Given the description of an element on the screen output the (x, y) to click on. 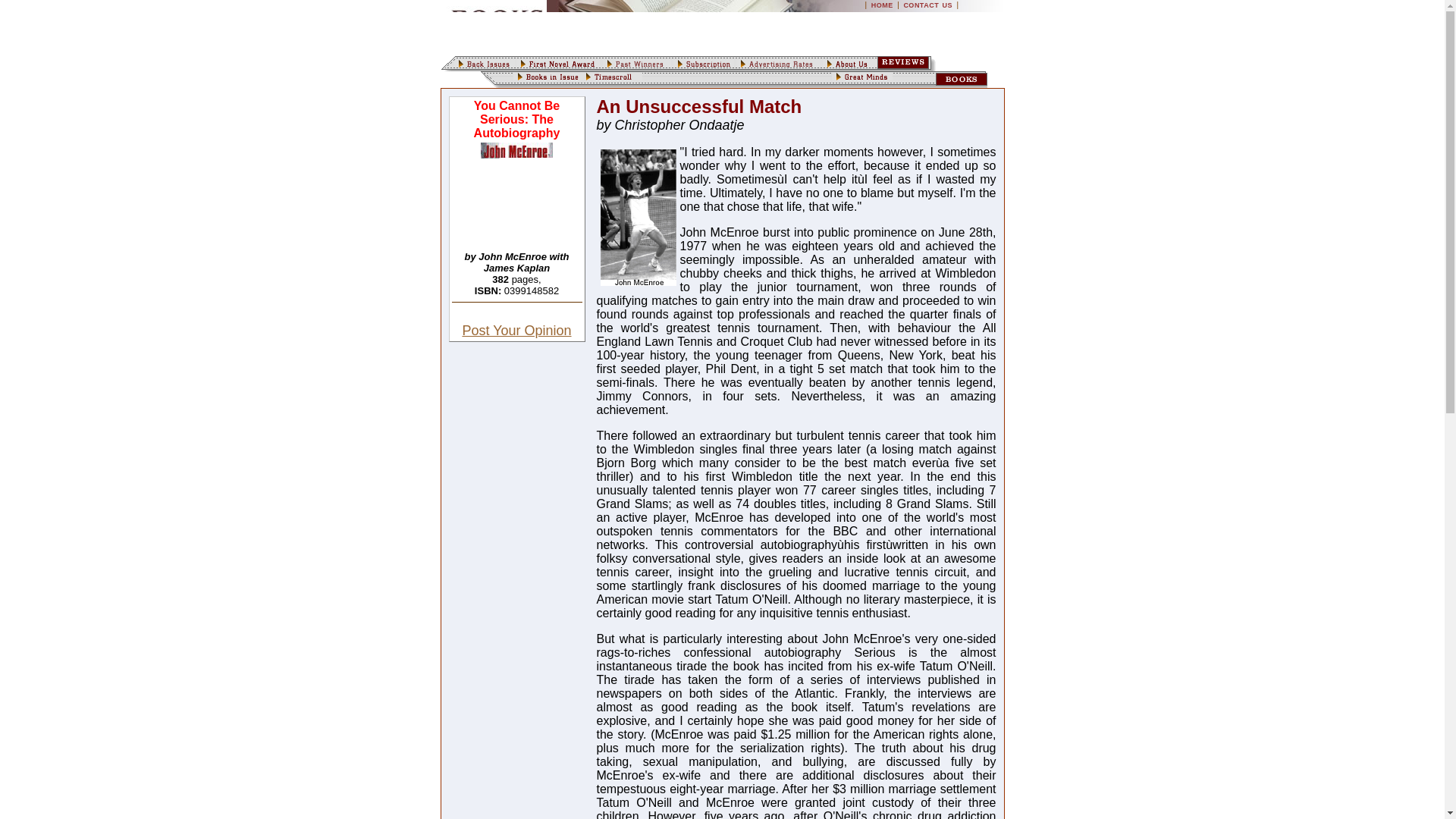
HOME (881, 5)
CONTACT US (927, 5)
Post Your Opinion (515, 330)
